Given the description of an element on the screen output the (x, y) to click on. 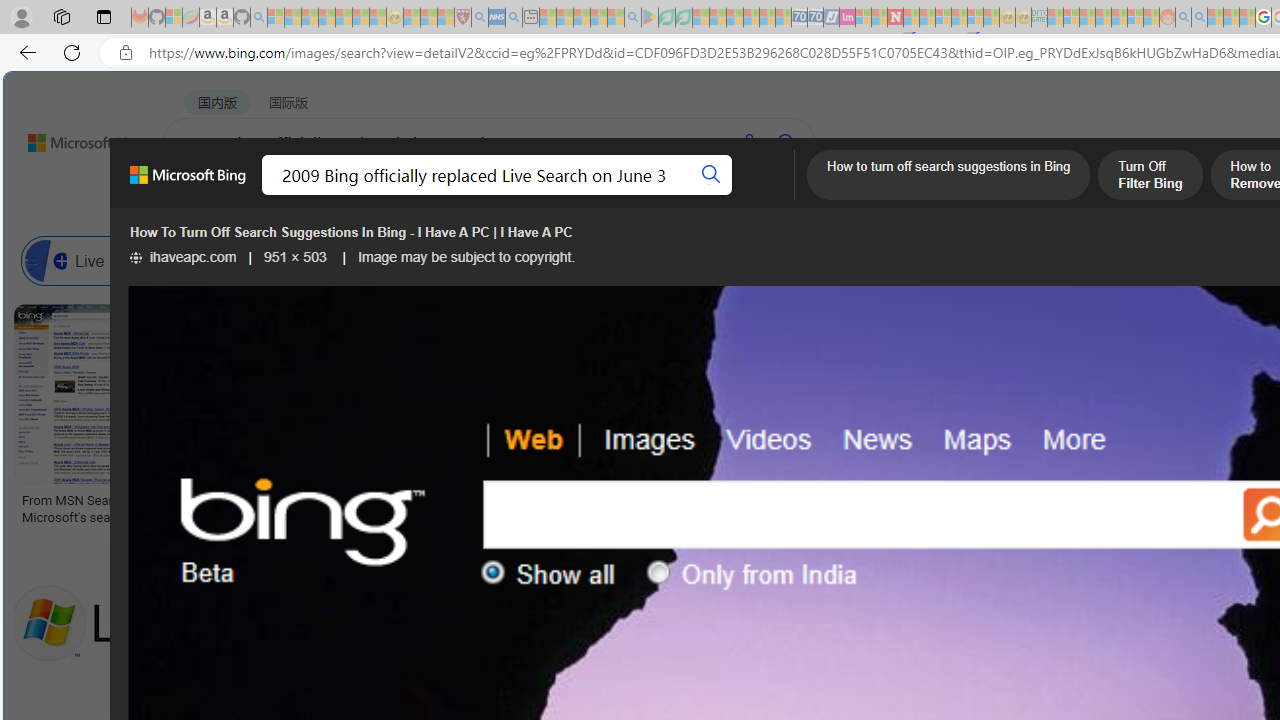
Microsoft Bing, Back to Bing search (188, 183)
ihaveapc.com (183, 257)
Bing Voice Search (275, 260)
Dropdown Menu (793, 195)
